Given the description of an element on the screen output the (x, y) to click on. 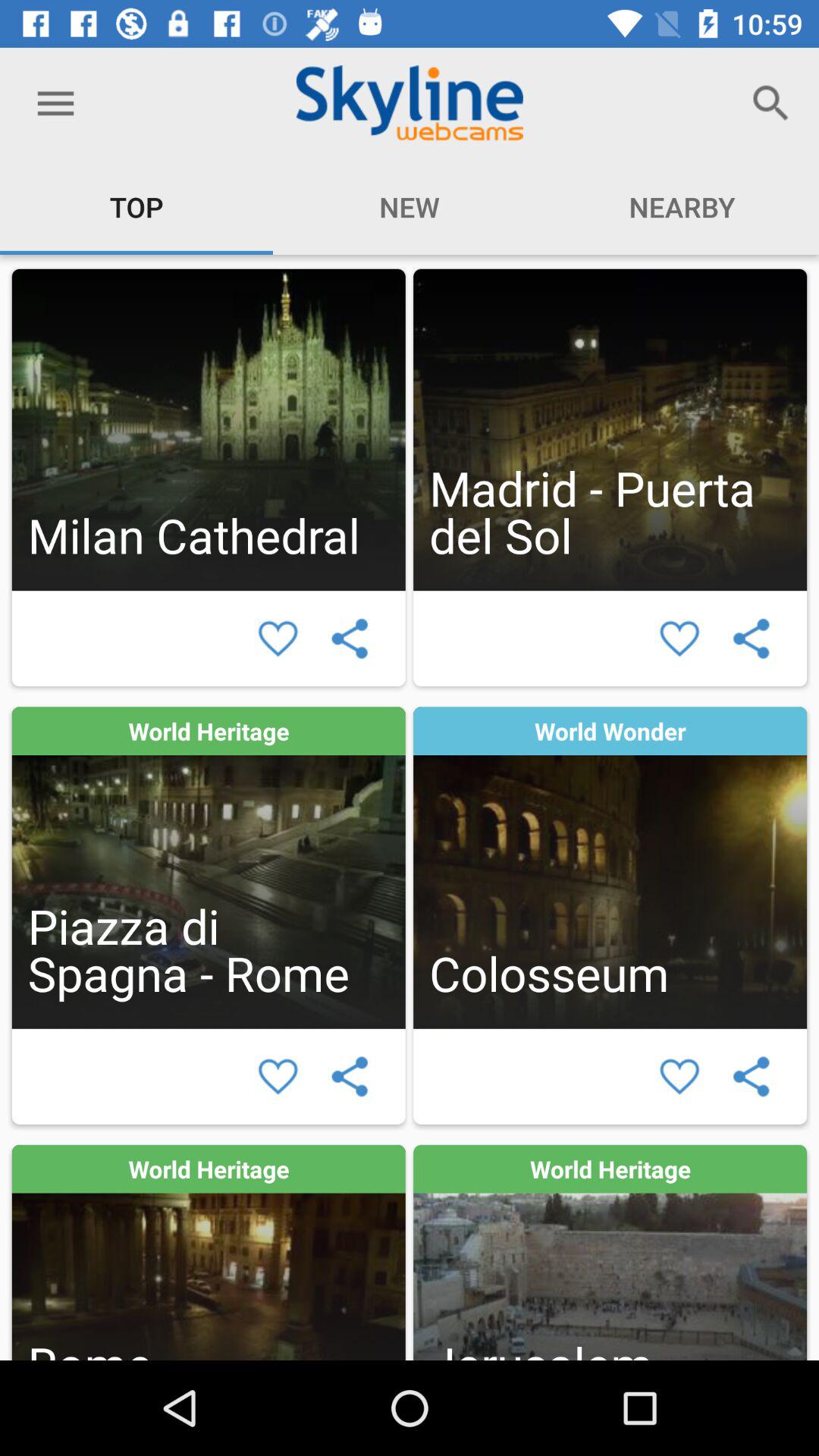
clique na mdia para ver (208, 1252)
